Given the description of an element on the screen output the (x, y) to click on. 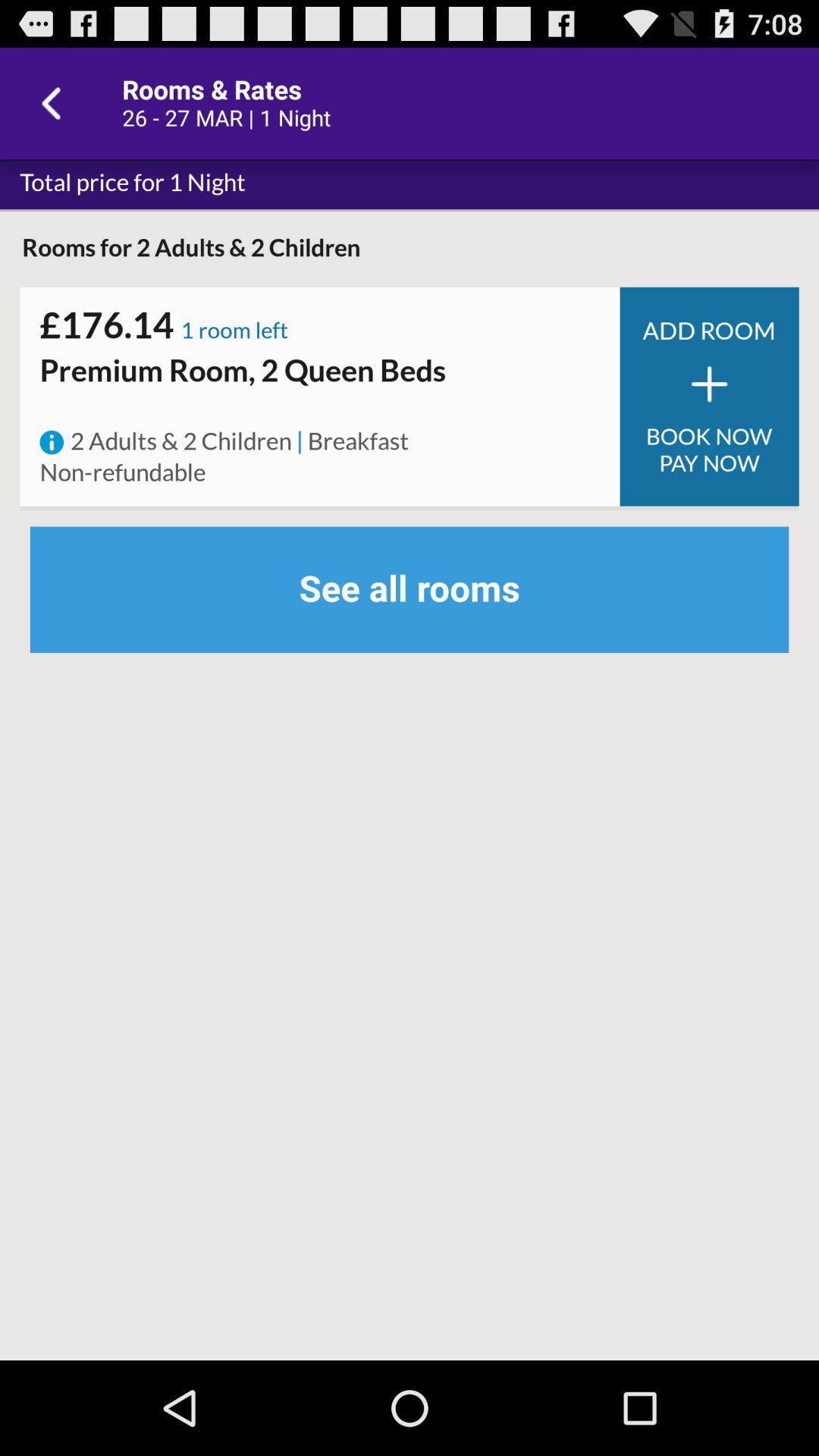
choose the item above see all rooms (357, 442)
